Given the description of an element on the screen output the (x, y) to click on. 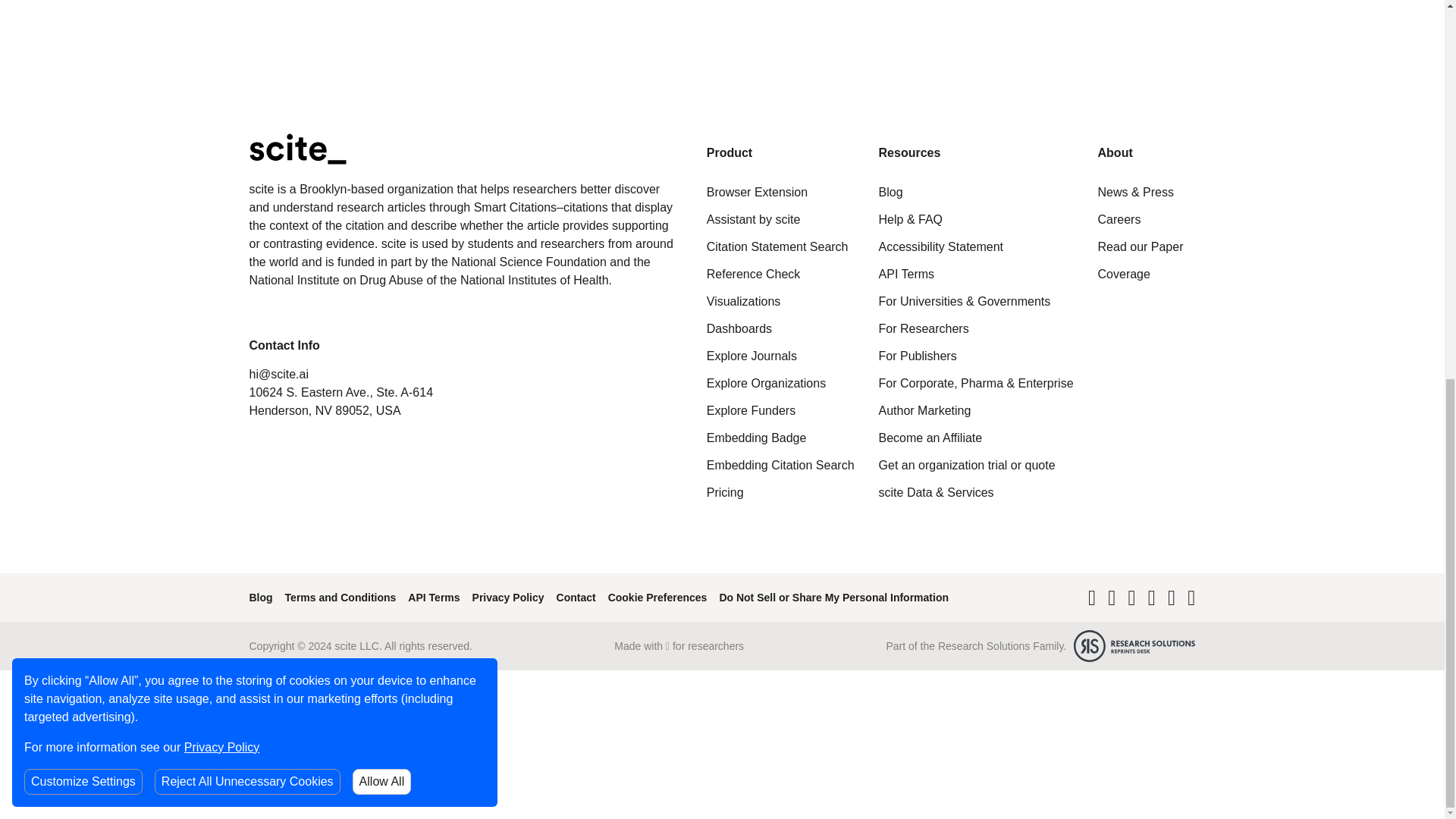
Dashboards (738, 328)
Assistant by scite (753, 219)
Visualizations (743, 301)
Explore Organizations (765, 383)
Accessibility Statement (941, 246)
Get an organization trial or quote (967, 465)
Browser Extension (757, 192)
Blog (890, 192)
Reference Check (753, 273)
API Terms (906, 273)
Author Marketing (925, 410)
For Publishers (917, 355)
Citation Statement Search (777, 246)
Explore Funders (750, 410)
For Researchers (924, 328)
